Given the description of an element on the screen output the (x, y) to click on. 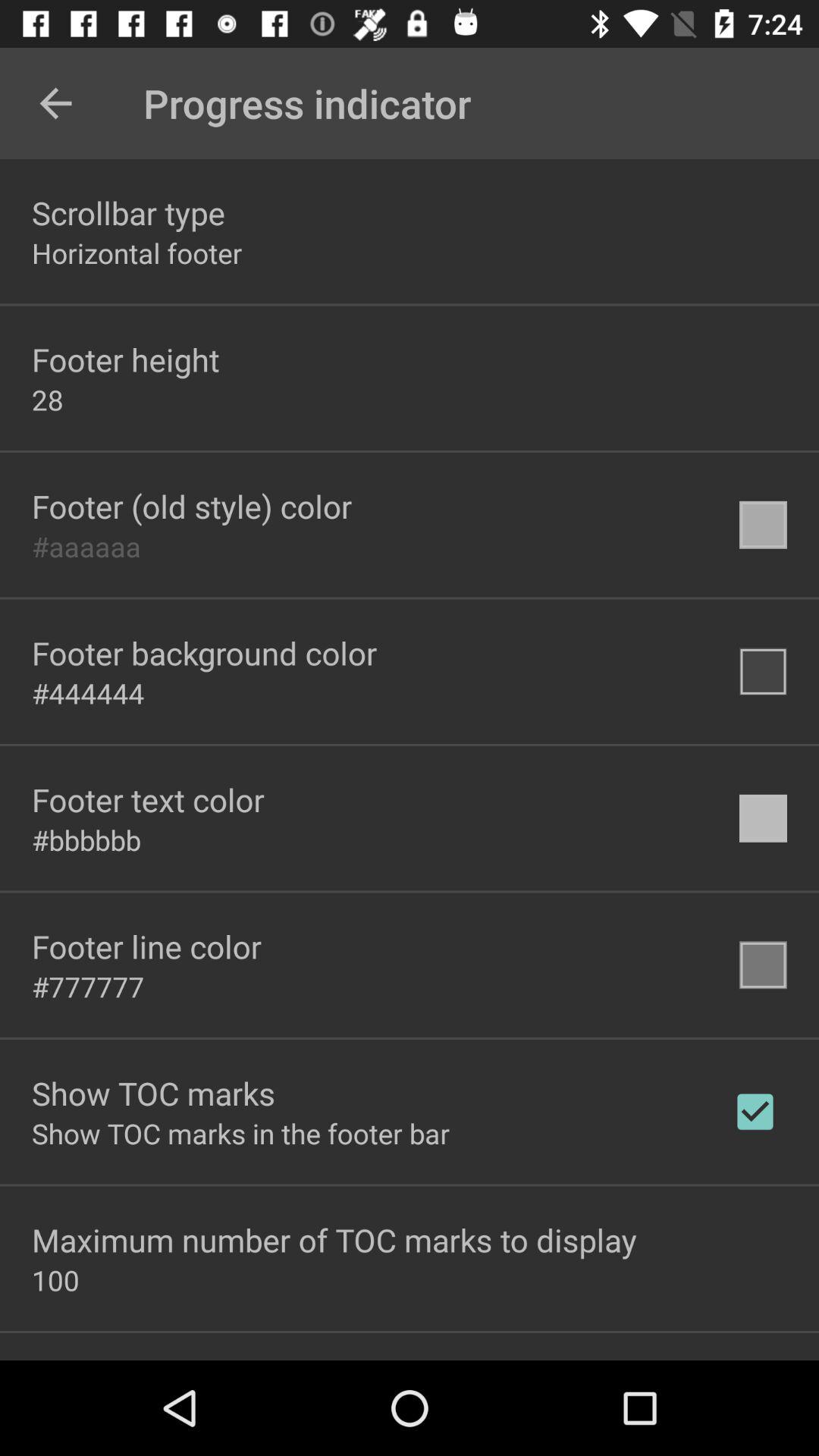
turn on the icon below scrollbar type item (136, 252)
